Given the description of an element on the screen output the (x, y) to click on. 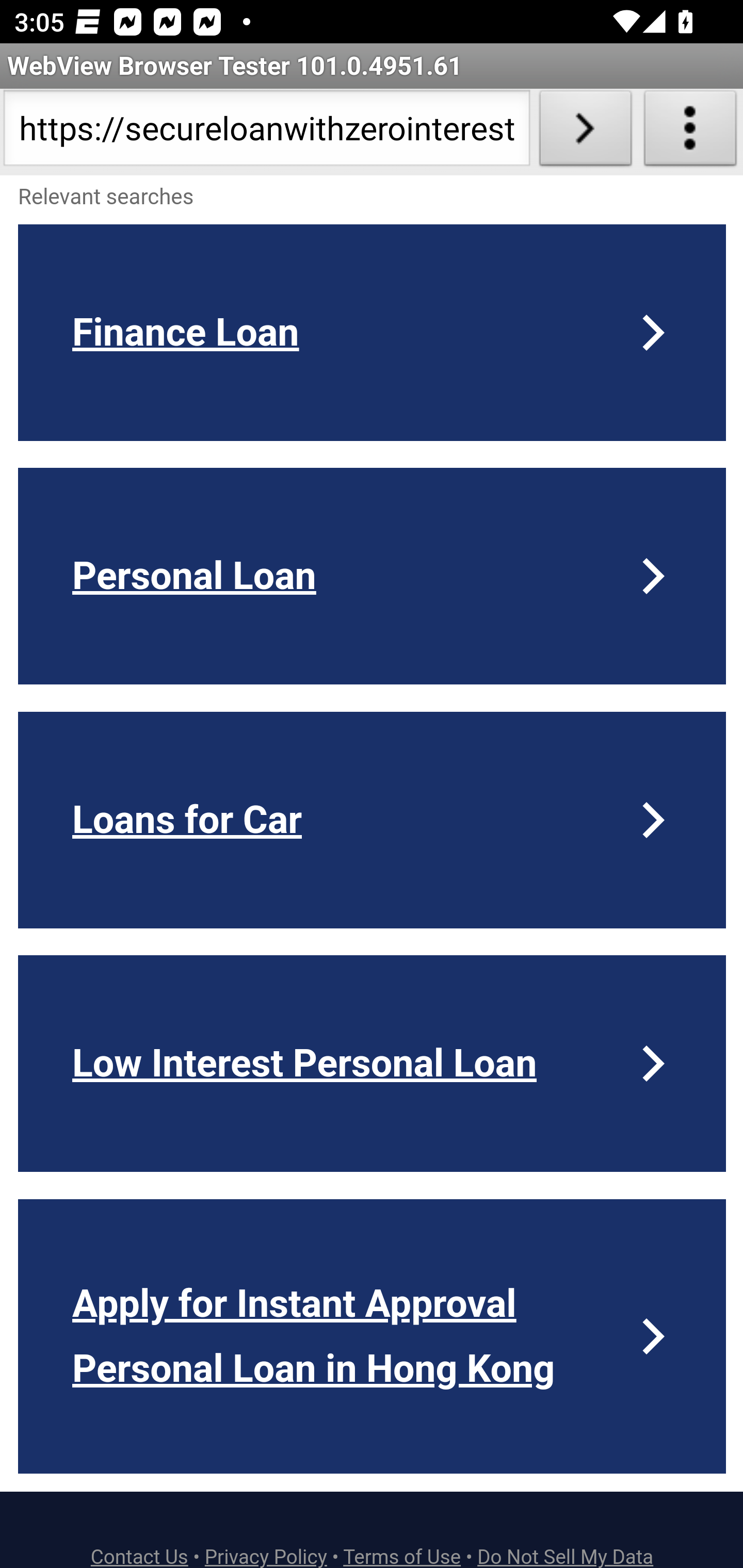
Load URL (585, 132)
About WebView (690, 132)
Finance Loan (372, 332)
Personal Loan (372, 576)
Loans for Car (372, 819)
Low Interest Personal Loan (372, 1062)
Contact Us (139, 1556)
Privacy Policy (265, 1556)
Terms of Use (402, 1556)
Do Not Sell My Data (566, 1556)
